Given the description of an element on the screen output the (x, y) to click on. 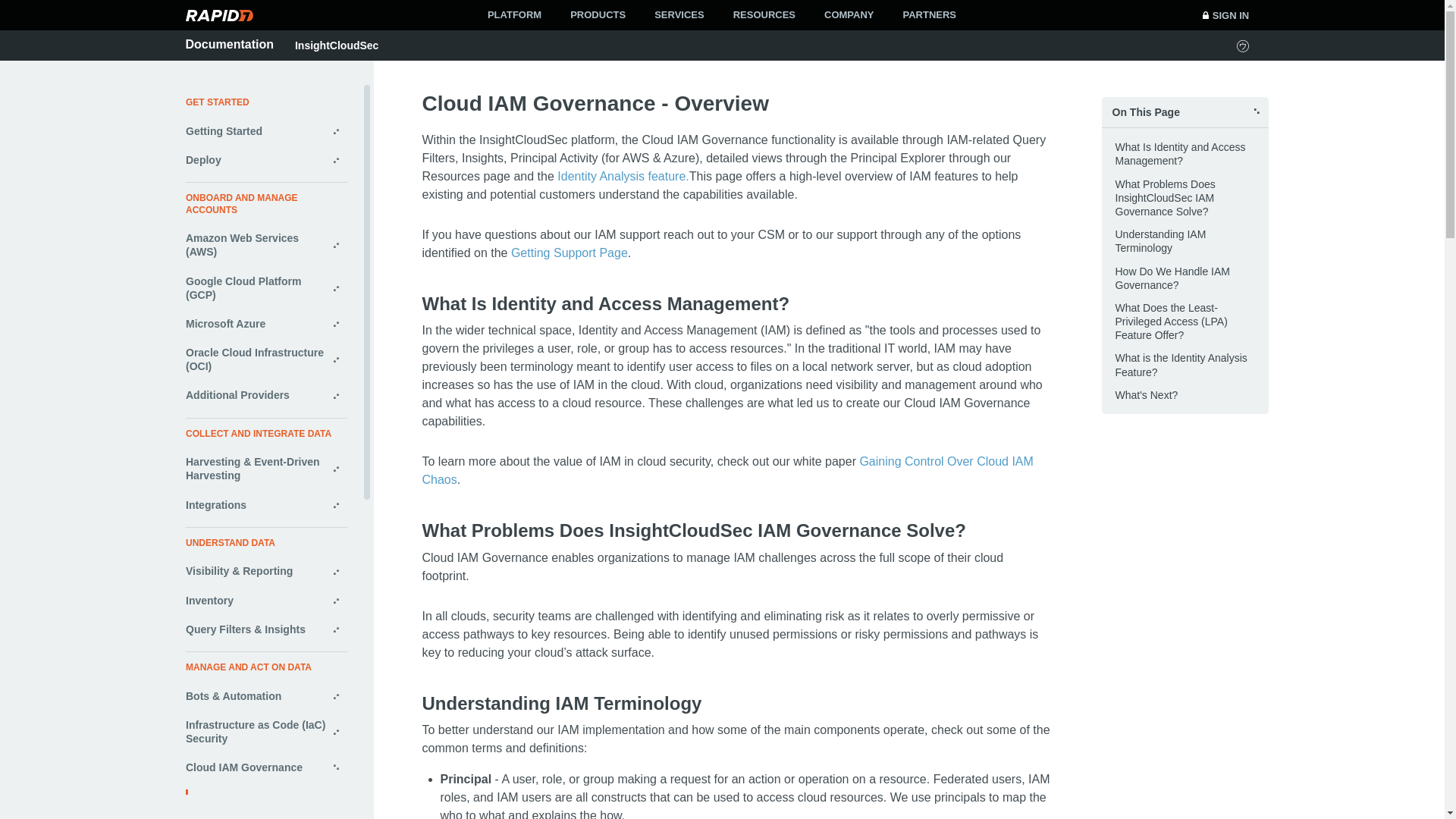
Documentation (228, 43)
Search (909, 14)
Close table of contents (1184, 112)
Search (909, 14)
